Given the description of an element on the screen output the (x, y) to click on. 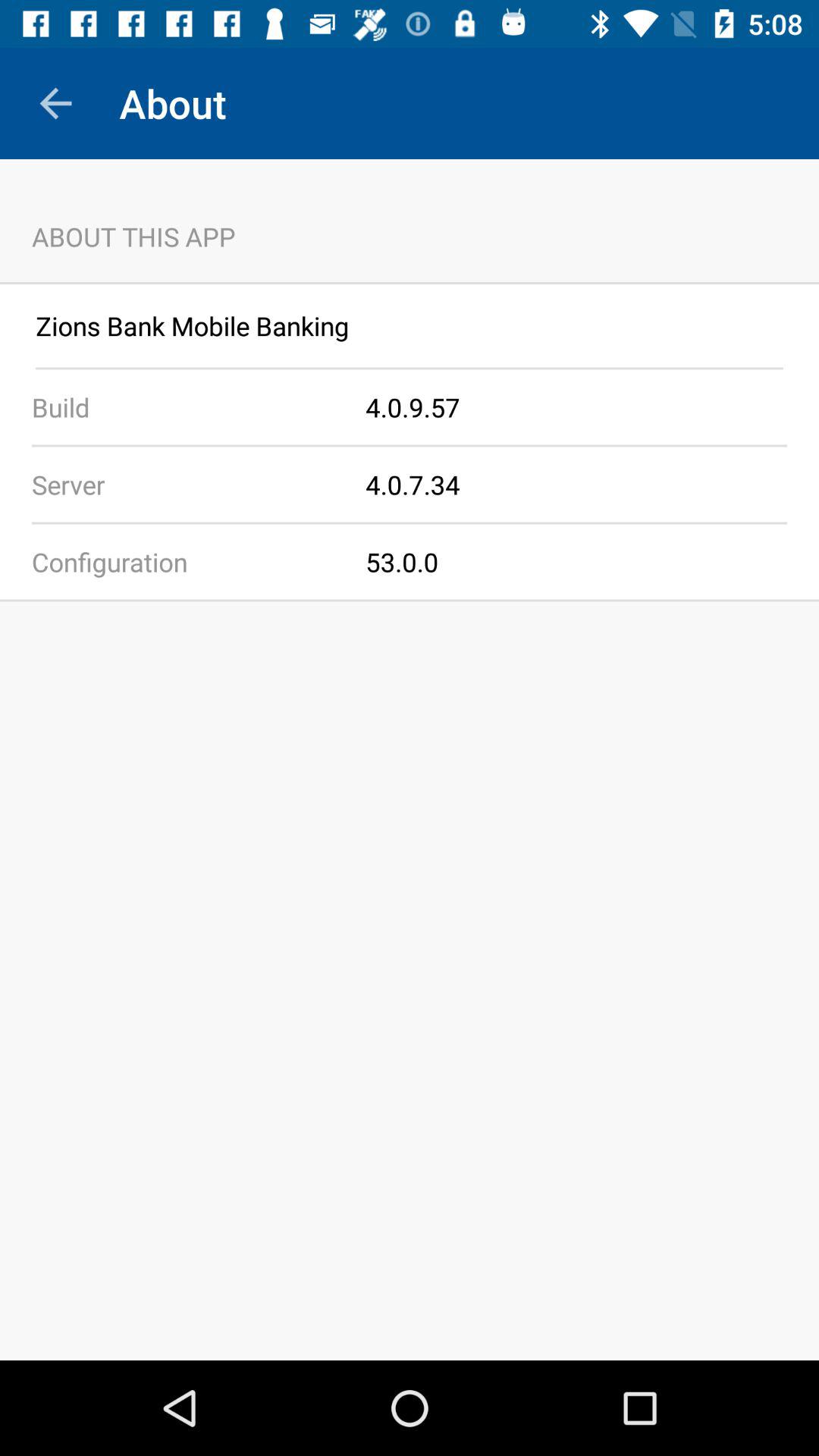
open the icon next to the about icon (55, 103)
